Given the description of an element on the screen output the (x, y) to click on. 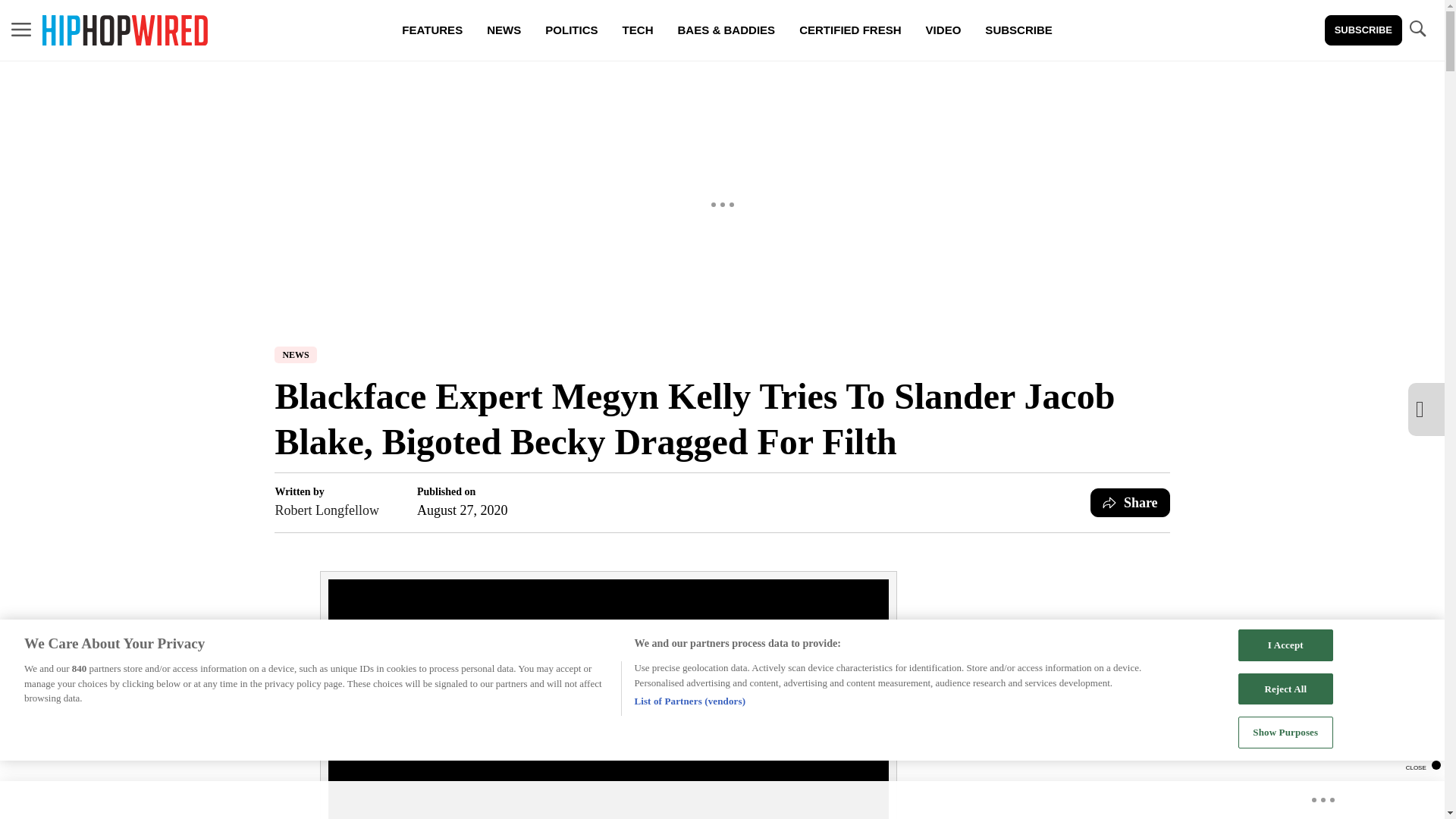
TECH (637, 30)
NEWS (295, 354)
TOGGLE SEARCH (1417, 30)
SUBSCRIBE (1363, 30)
NEWS (503, 30)
POLITICS (571, 30)
SUBSCRIBE (1018, 30)
Robert Longfellow (326, 509)
VIDEO (944, 30)
MENU (20, 30)
MENU (20, 29)
FEATURES (432, 30)
Share (1130, 502)
TOGGLE SEARCH (1417, 28)
CERTIFIED FRESH (849, 30)
